Given the description of an element on the screen output the (x, y) to click on. 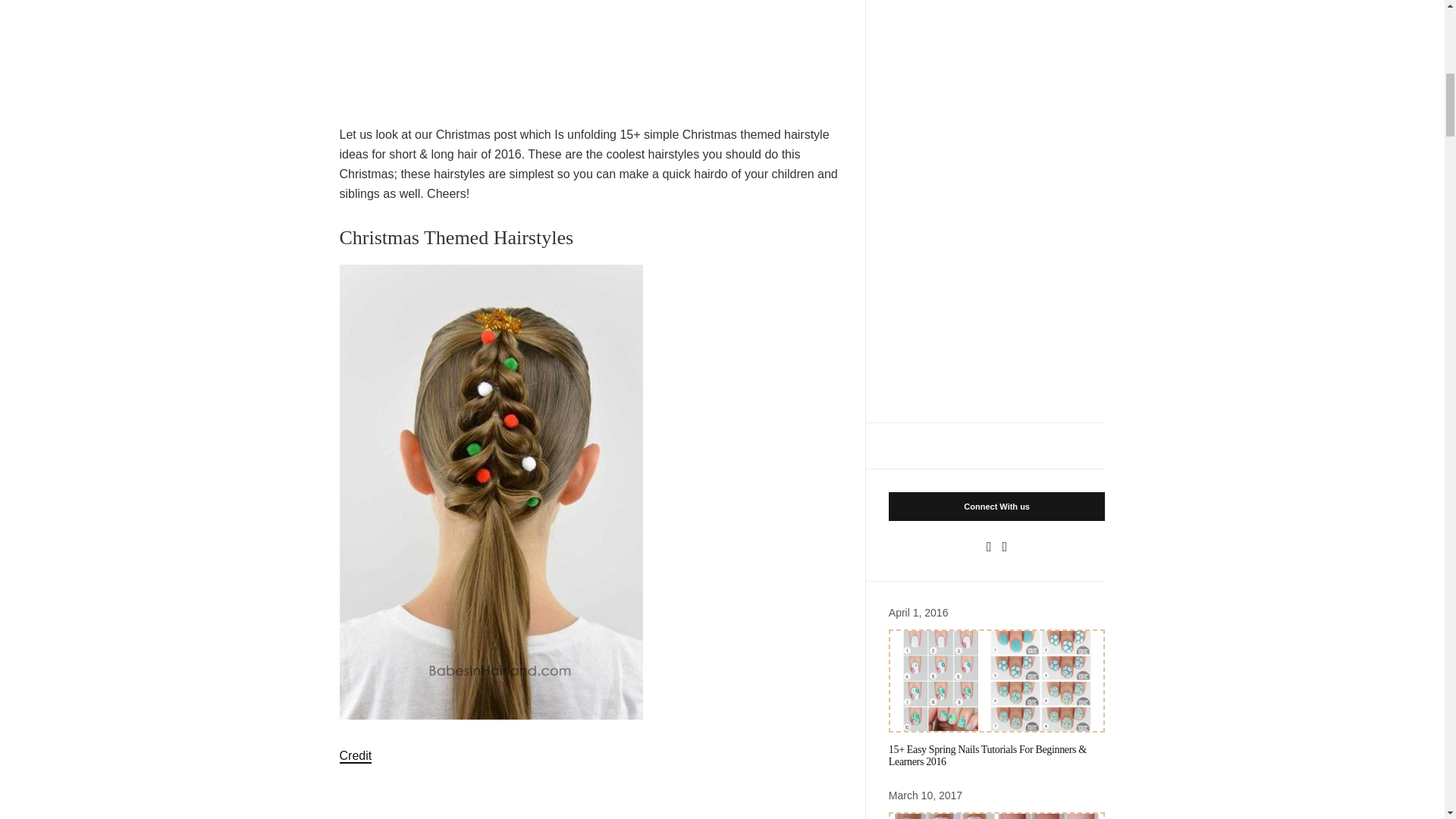
Credit (355, 756)
